Given the description of an element on the screen output the (x, y) to click on. 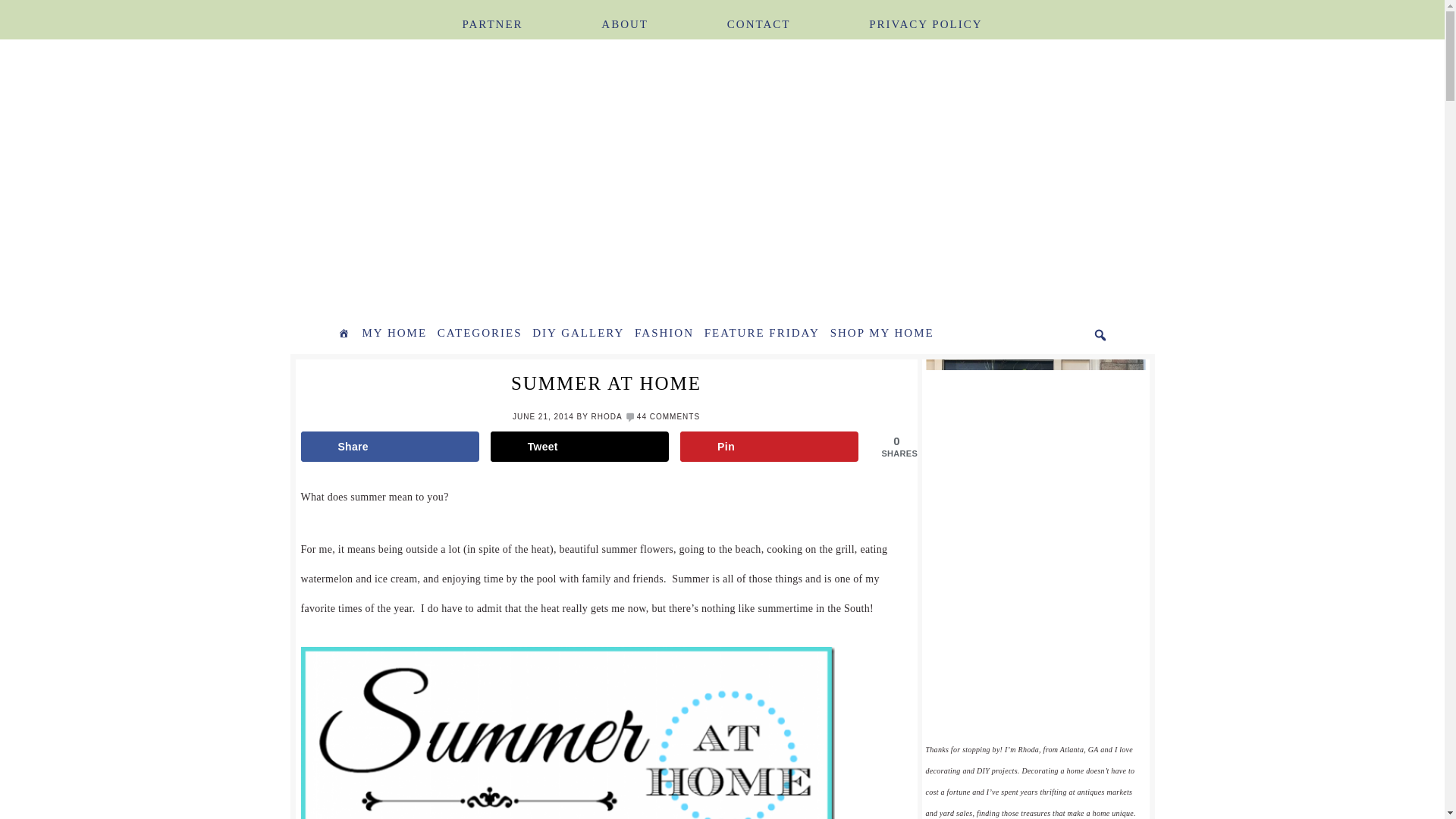
CONTACT (758, 15)
FEATURE FRIDAY (762, 334)
DIY GALLERY (577, 334)
CATEGORIES (479, 334)
MY HOME (394, 334)
ABOUT (624, 15)
PRIVACY POLICY (925, 15)
Pin (769, 446)
Share on X (579, 446)
Share on Facebook (389, 446)
RHODA (606, 416)
Share (389, 446)
FASHION (663, 334)
Save to Pinterest (769, 446)
SHOP MY HOME (882, 334)
